Given the description of an element on the screen output the (x, y) to click on. 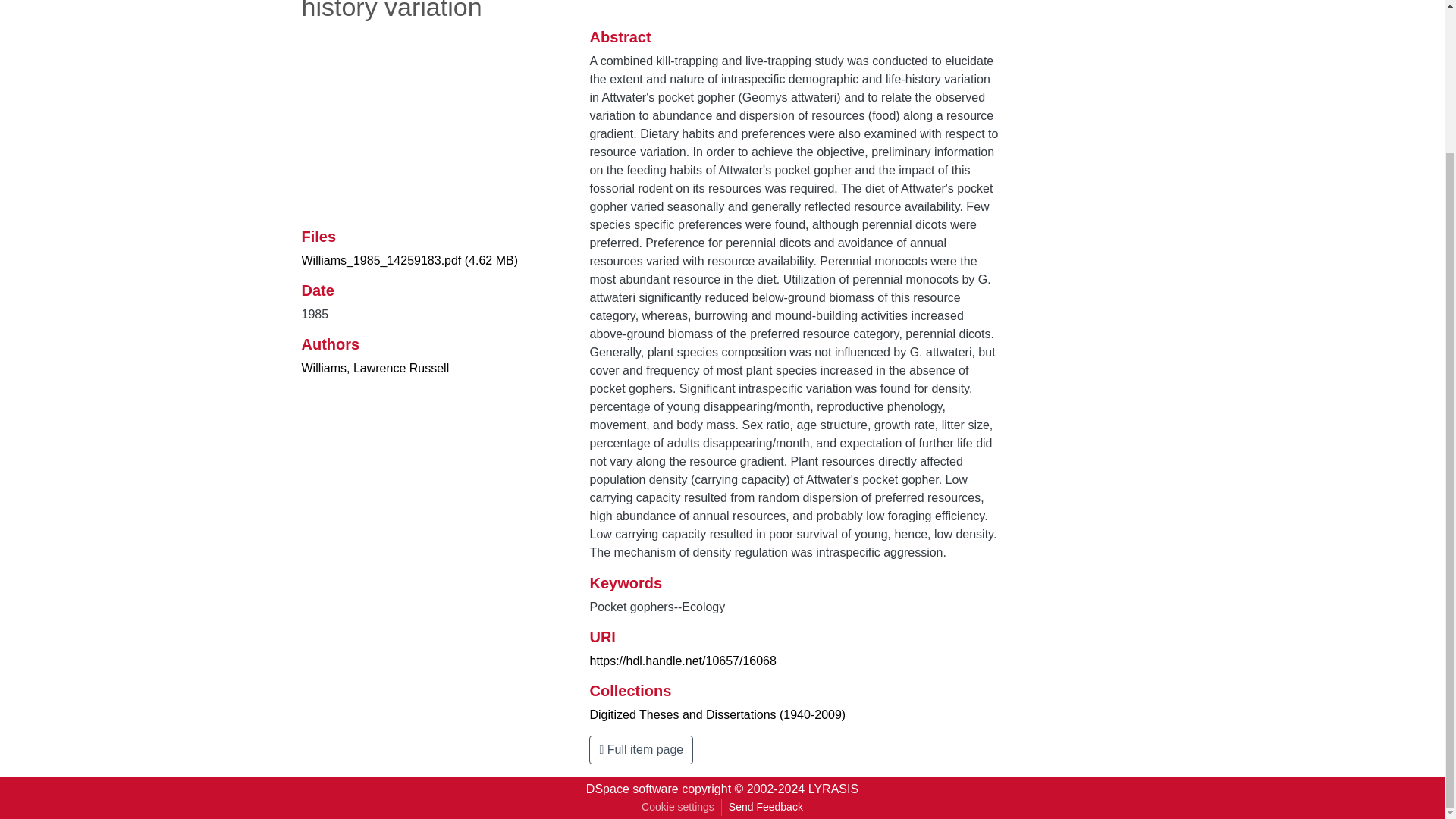
DSpace software (632, 788)
LYRASIS (833, 788)
Full item page (641, 749)
Cookie settings (677, 806)
Williams, Lawrence Russell (375, 367)
Send Feedback (765, 806)
